Given the description of an element on the screen output the (x, y) to click on. 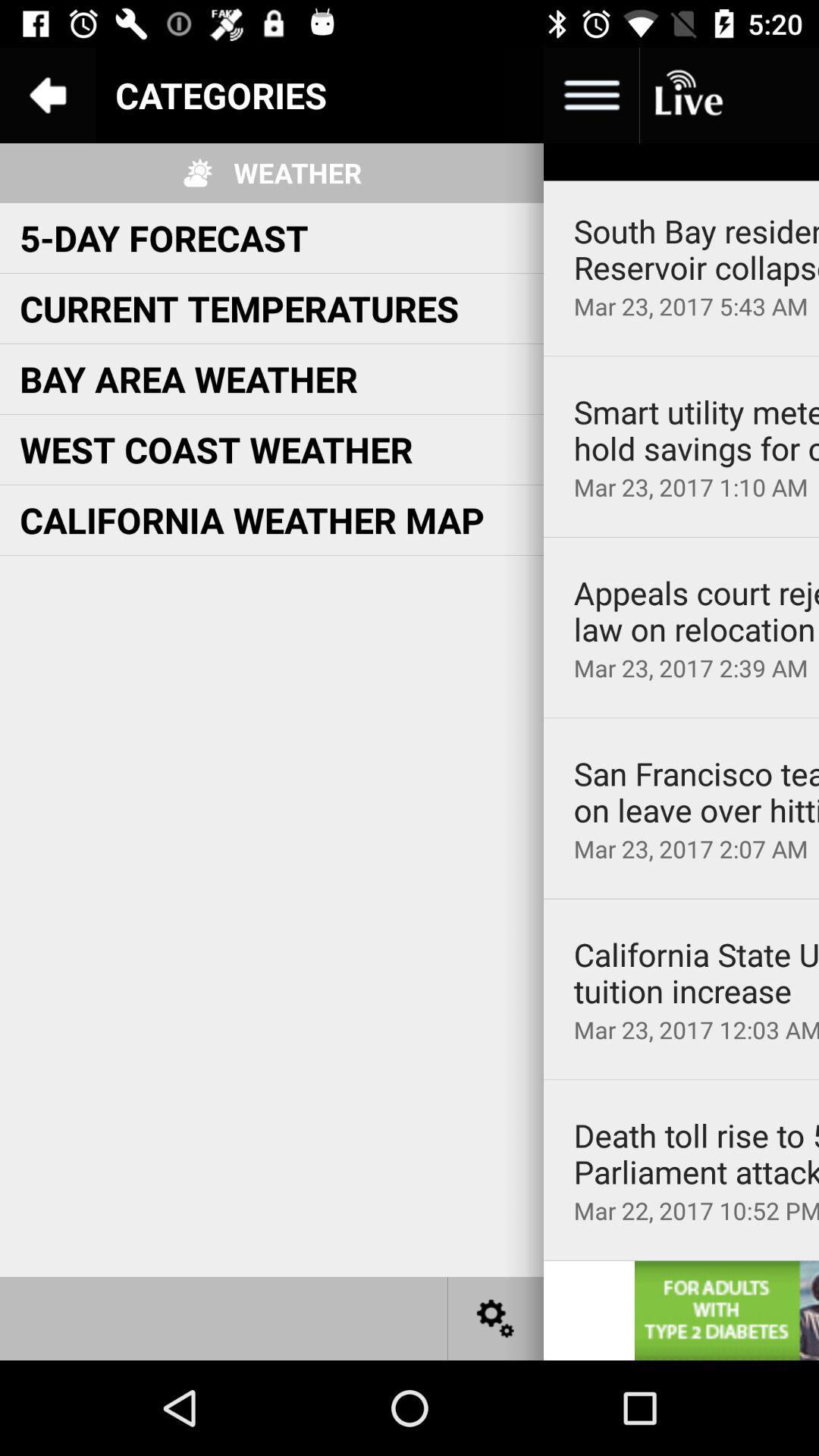
go live (687, 95)
